Given the description of an element on the screen output the (x, y) to click on. 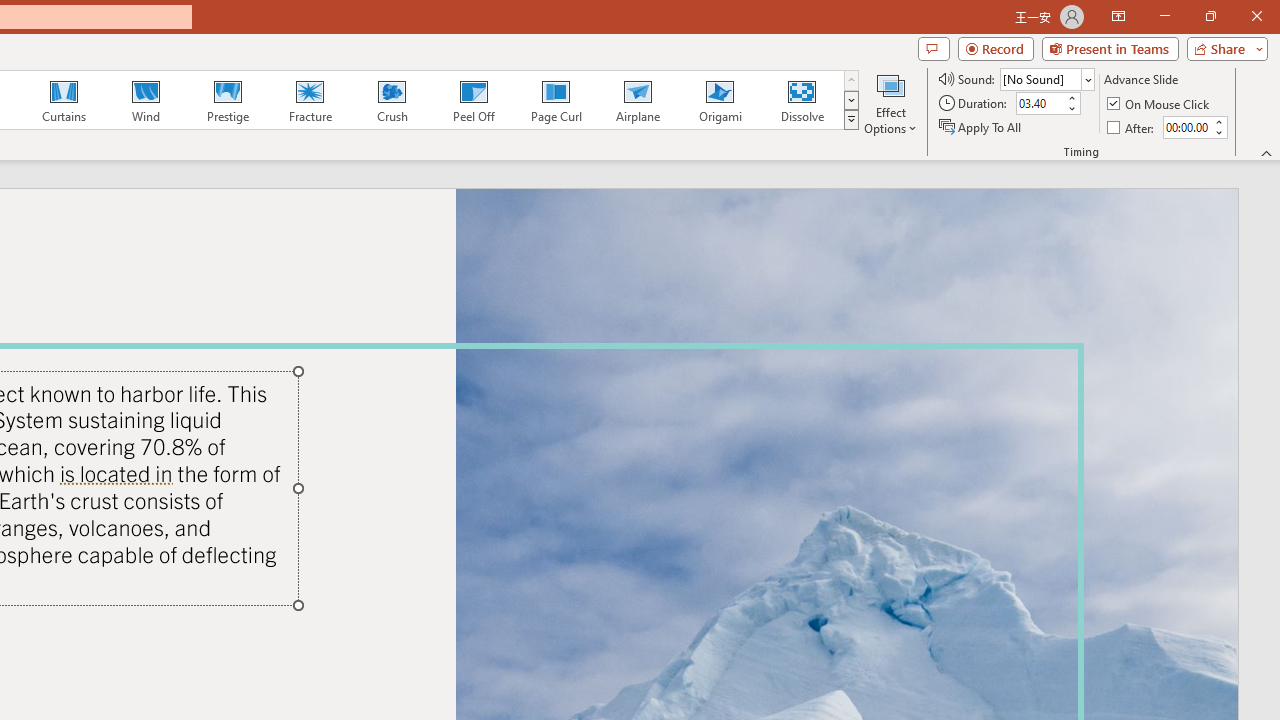
Effect Options (890, 102)
Fracture (309, 100)
Dissolve (802, 100)
Curtains (63, 100)
Duration (1039, 103)
On Mouse Click (1159, 103)
Prestige (227, 100)
